Given the description of an element on the screen output the (x, y) to click on. 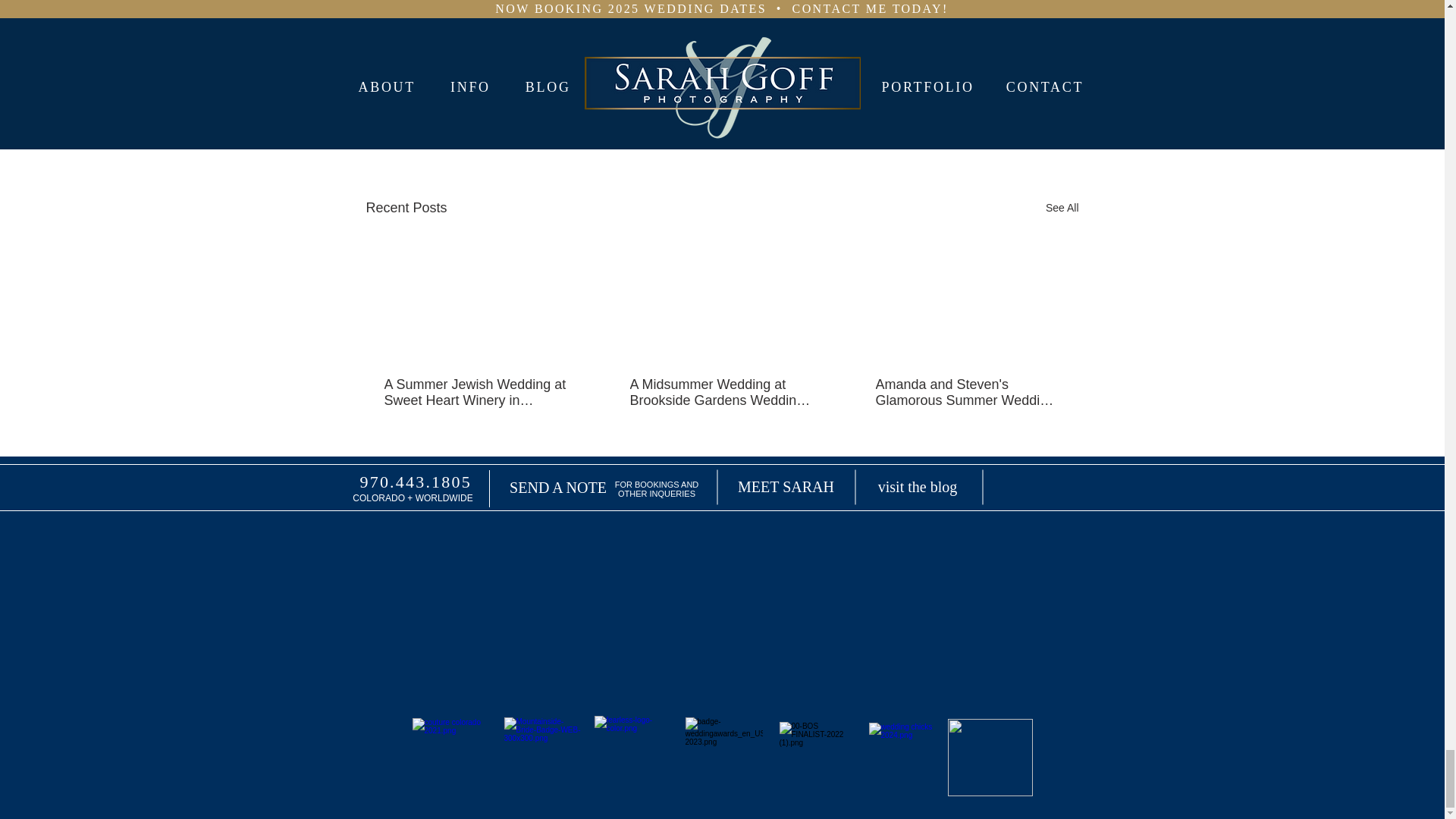
SEND A NOTE (558, 486)
MEET SARAH (785, 486)
See All (1061, 208)
